Given the description of an element on the screen output the (x, y) to click on. 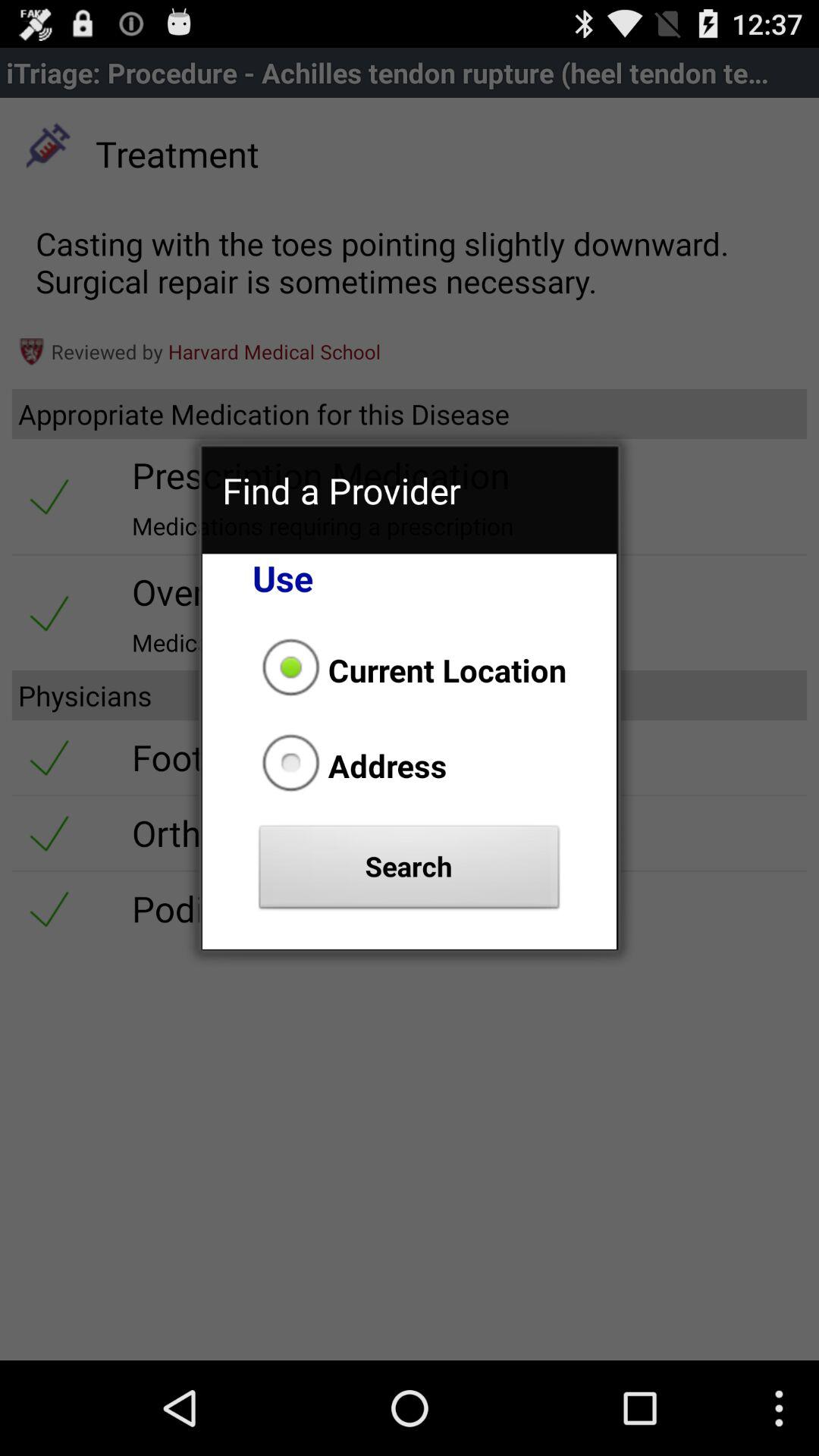
choose item below the use (409, 669)
